Given the description of an element on the screen output the (x, y) to click on. 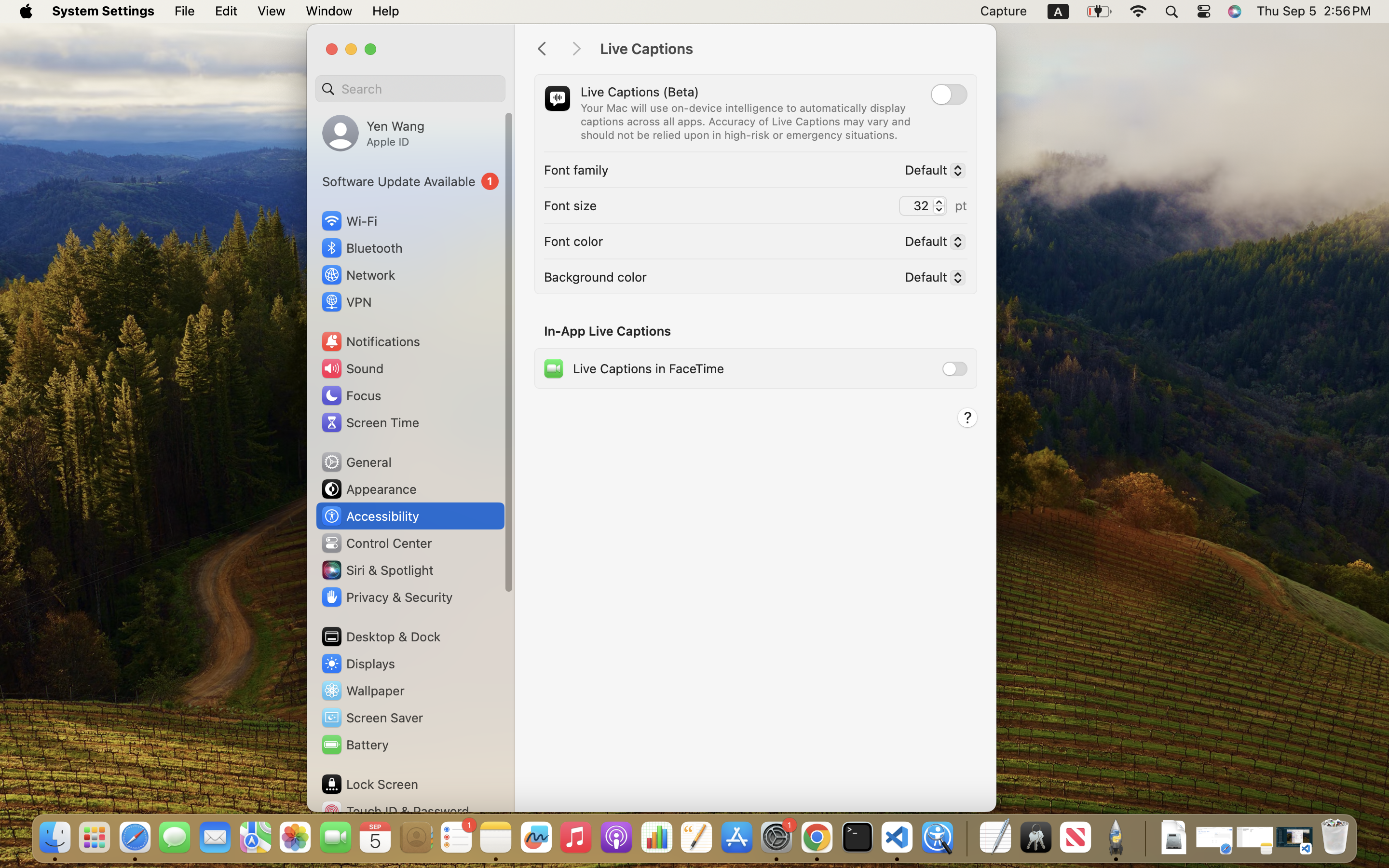
Appearance Element type: AXStaticText (368, 488)
Sound Element type: AXStaticText (351, 367)
Battery Element type: AXStaticText (354, 744)
32 Element type: AXTextField (922, 205)
